Given the description of an element on the screen output the (x, y) to click on. 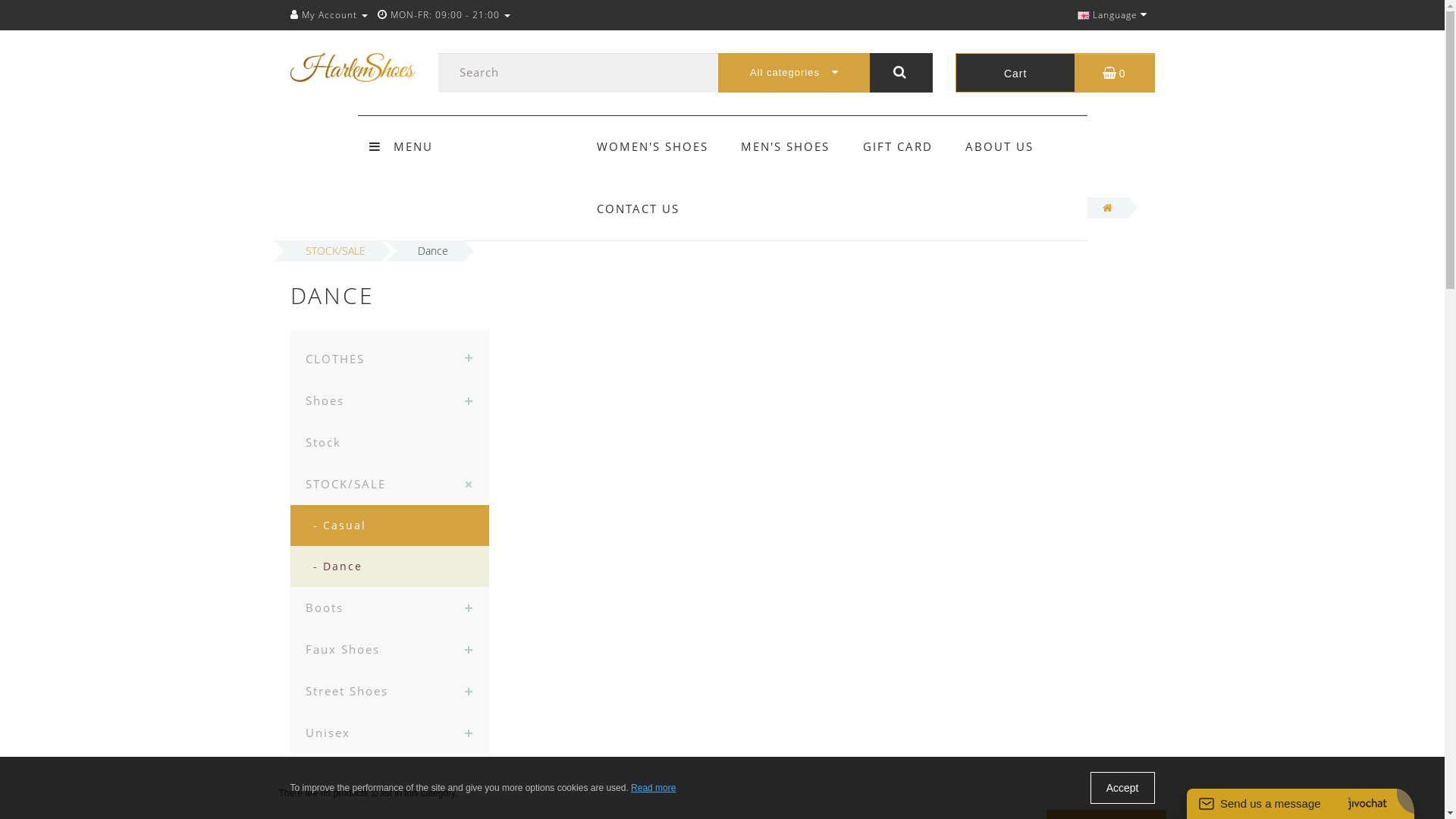
CLOTHES Element type: text (389, 354)
Read more Element type: text (652, 787)
MEN'S SHOES Element type: text (784, 146)
WOMEN'S SHOES Element type: text (652, 146)
CONTACT US Element type: text (637, 208)
Store HarlemShoes Element type: hover (351, 67)
Boots Element type: text (389, 607)
Accept Element type: text (1122, 787)
STOCK/SALE Element type: text (334, 250)
0 Element type: text (7, 15)
All categories Element type: text (793, 72)
ABOUT US Element type: text (999, 146)
Stock Element type: text (389, 442)
Cart
0 Element type: text (1054, 72)
Faux Shoes Element type: text (389, 649)
Street Shoes Element type: text (389, 691)
- Dance Element type: text (389, 566)
Unisex Element type: text (389, 732)
Shoes Element type: text (389, 400)
- Casual Element type: text (389, 525)
My Account Element type: text (328, 14)
GIFT CARD Element type: text (897, 146)
Home Element type: hover (1107, 207)
English Element type: hover (1082, 15)
STOCK/SALE Element type: text (389, 484)
MON-FR: 09:00 - 21:00 Element type: text (443, 14)
